Given the description of an element on the screen output the (x, y) to click on. 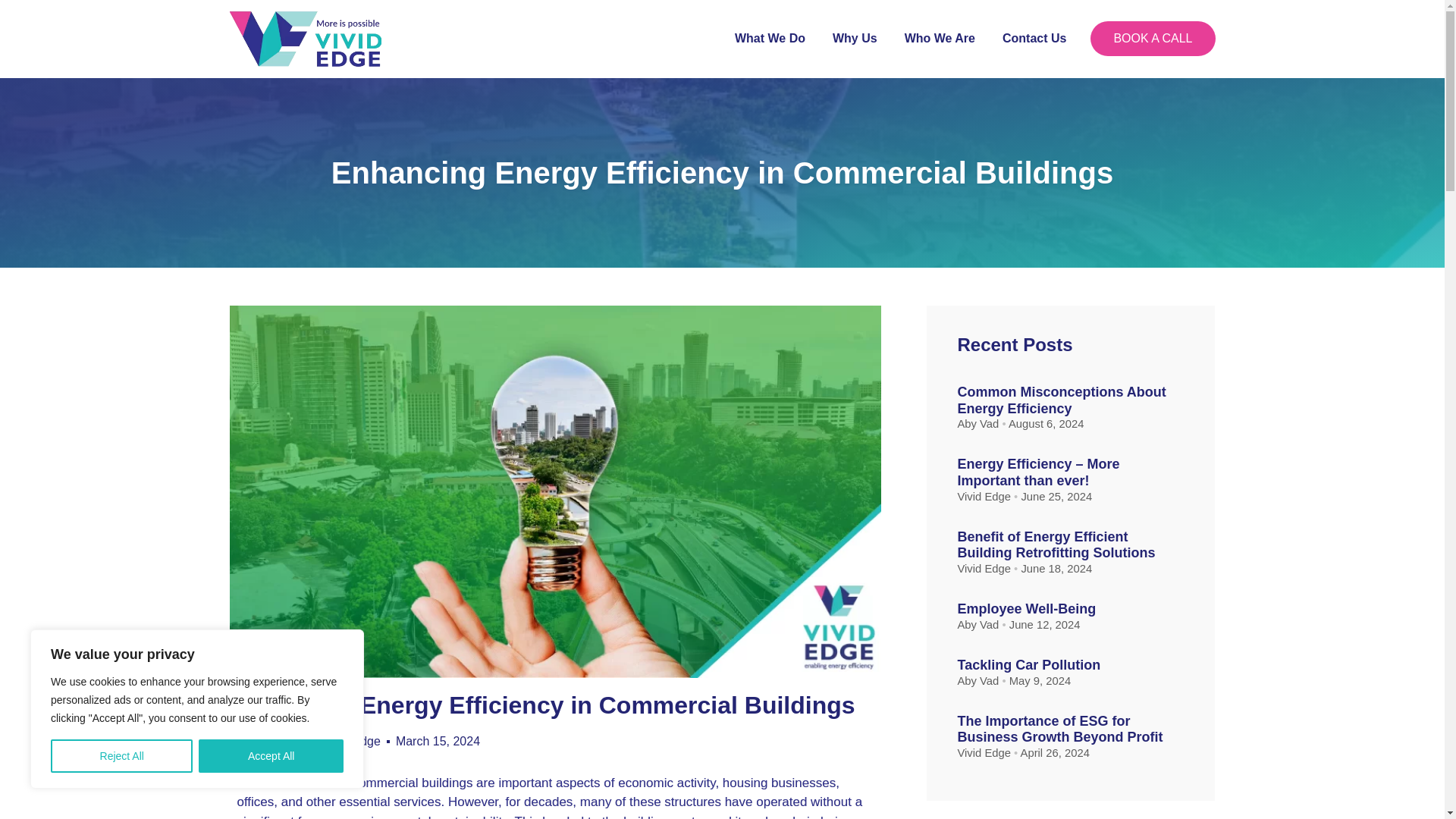
Contact Us (1034, 38)
Vivid Edge (351, 741)
Accept All (270, 756)
Reject All (121, 756)
Uncategorized (267, 740)
March 15, 2024 (438, 741)
Why Us (854, 38)
BOOK A CALL (1152, 38)
What We Do (770, 38)
Who We Are (939, 38)
